Given the description of an element on the screen output the (x, y) to click on. 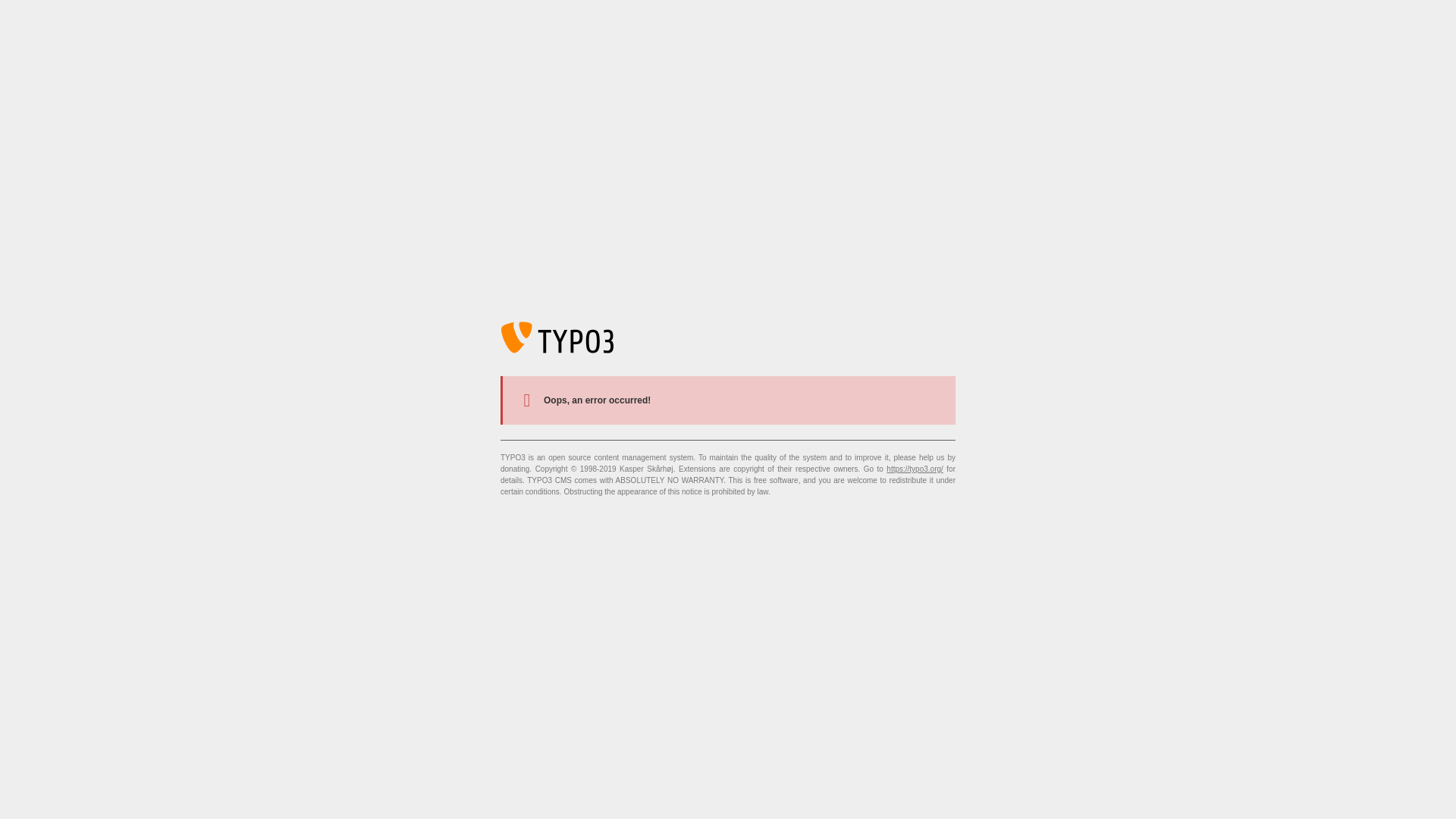
https://typo3.org/ Element type: text (914, 468)
